Given the description of an element on the screen output the (x, y) to click on. 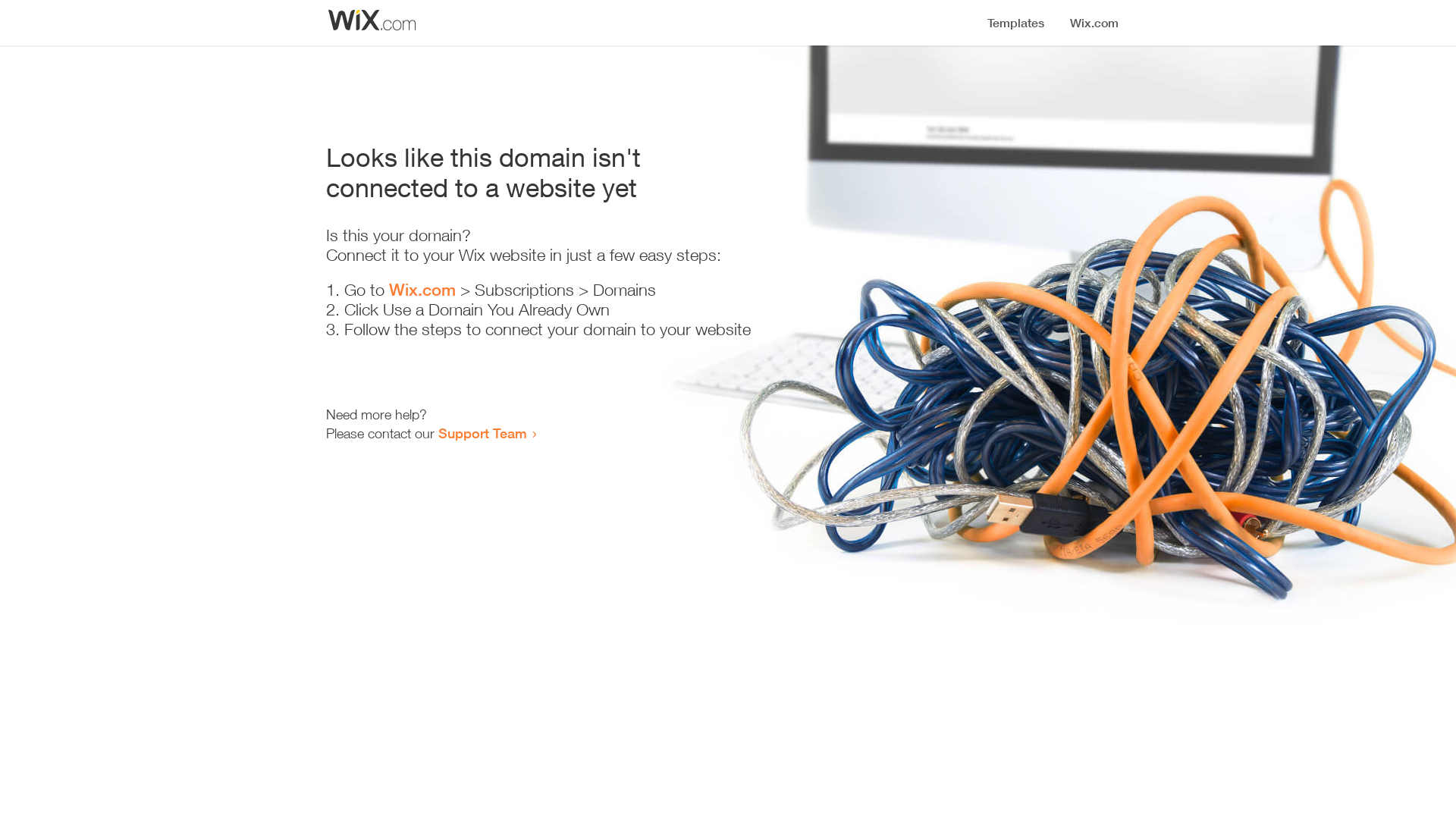
Support Team Element type: text (482, 432)
Wix.com Element type: text (422, 289)
